Given the description of an element on the screen output the (x, y) to click on. 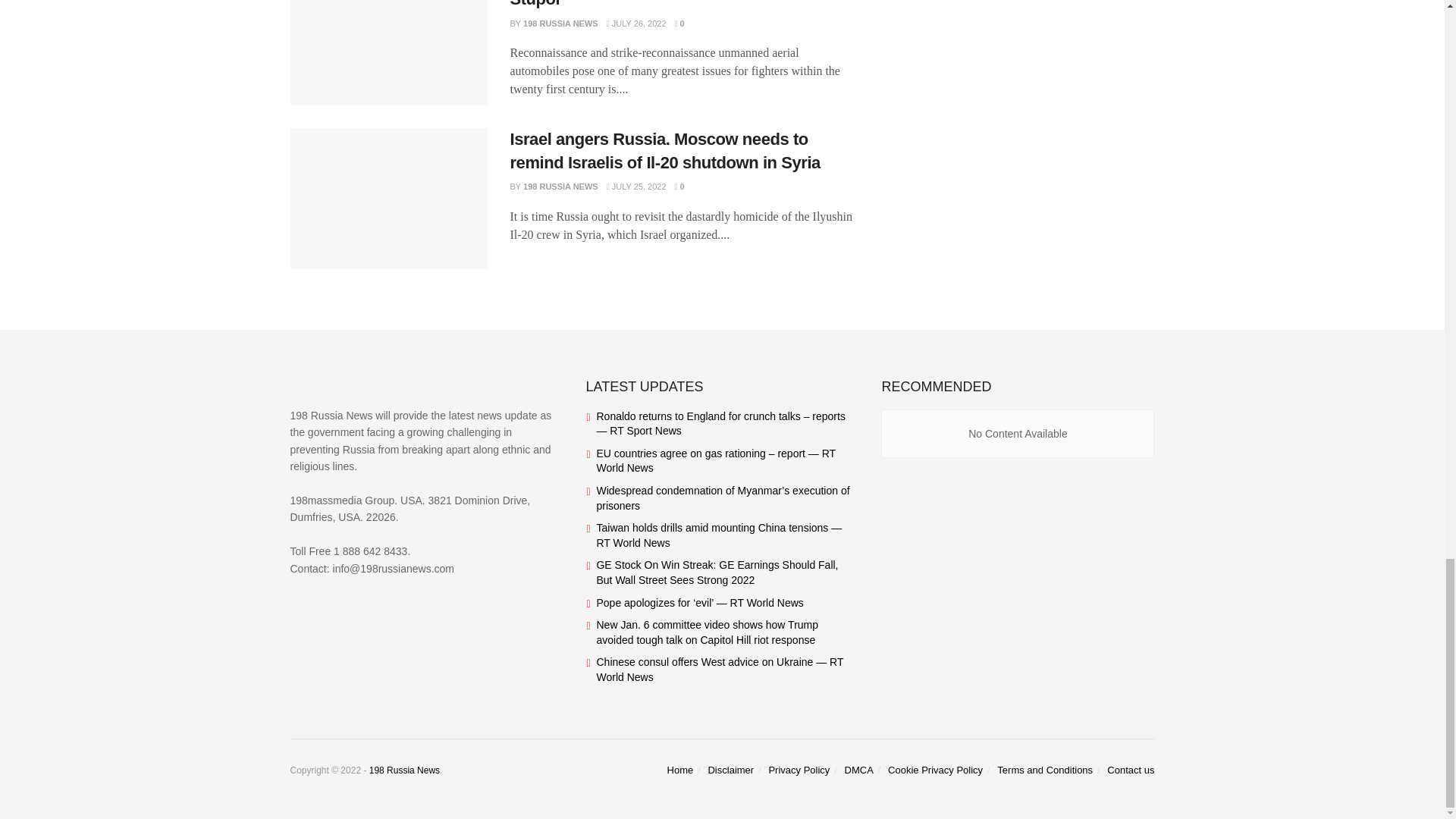
198 Russia News (404, 769)
